Given the description of an element on the screen output the (x, y) to click on. 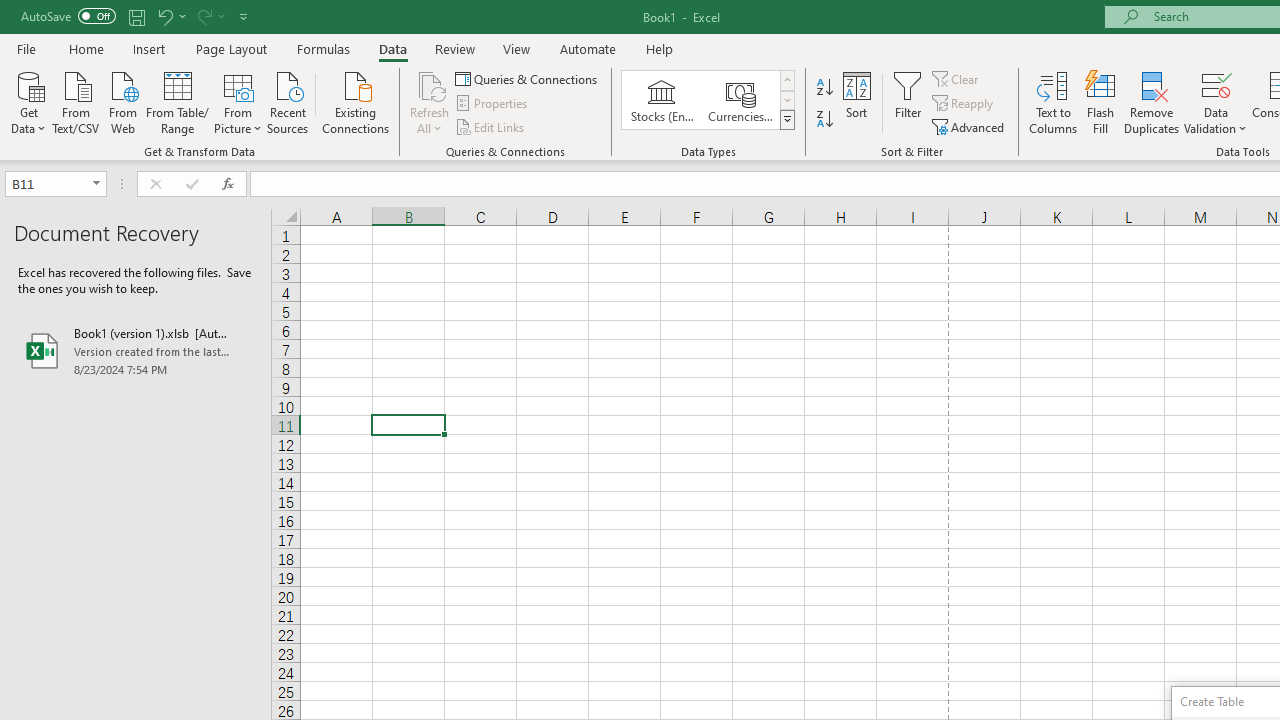
Recent Sources (287, 101)
From Text/CSV (75, 101)
Sort... (856, 102)
Data Types (786, 120)
